Given the description of an element on the screen output the (x, y) to click on. 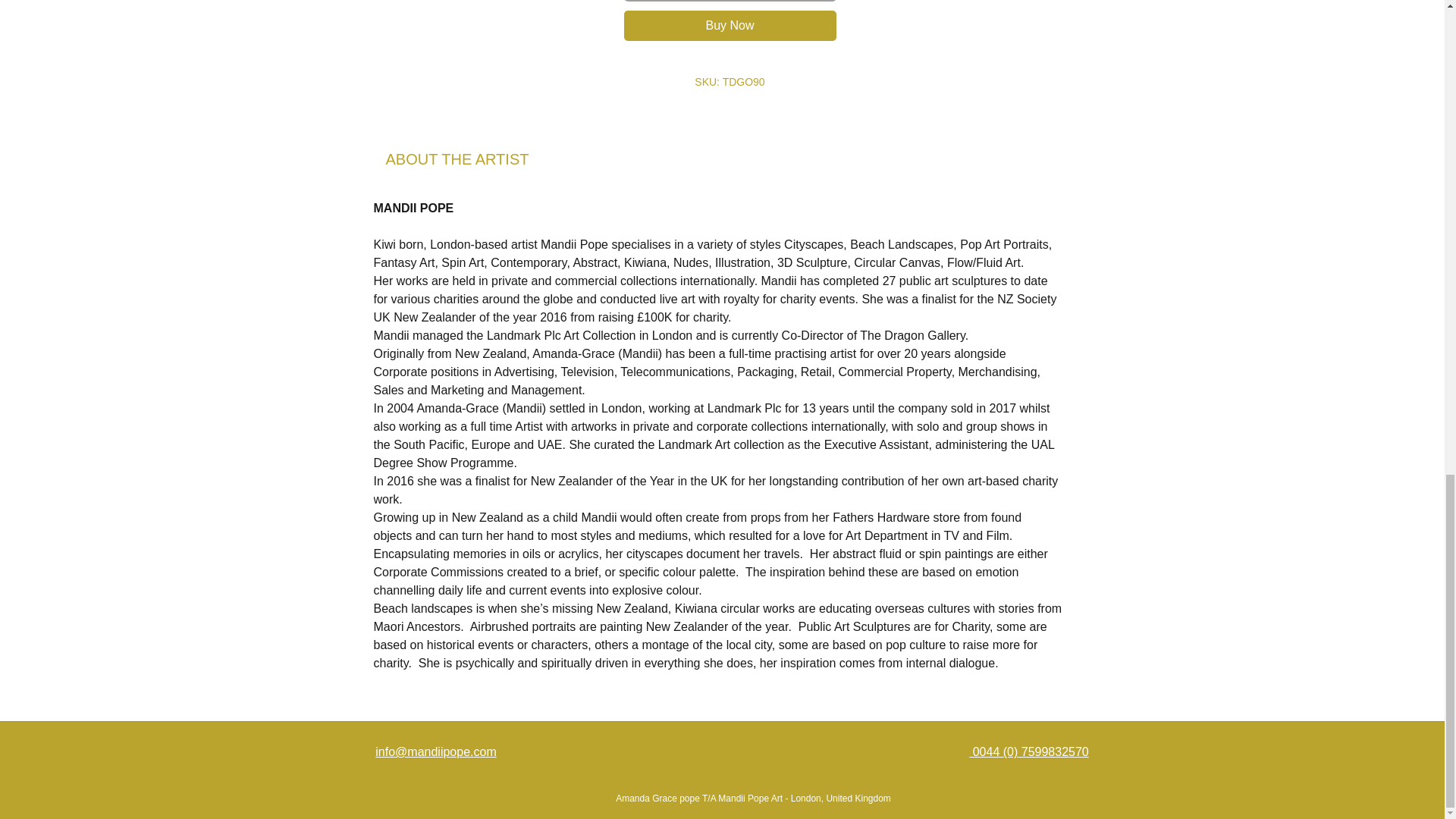
Use right and left arrows to navigate between tabs (456, 159)
